Given the description of an element on the screen output the (x, y) to click on. 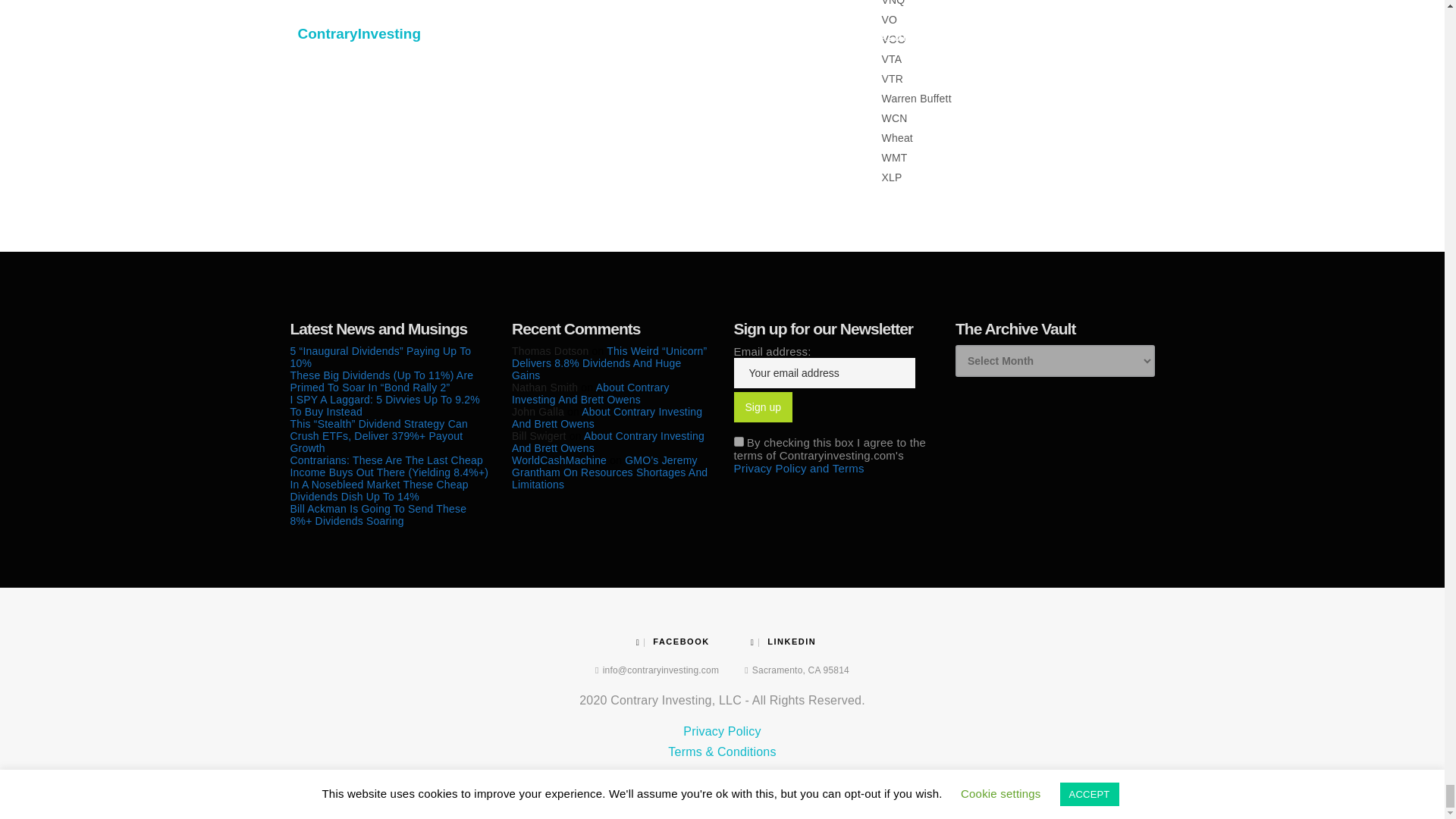
Sign up (762, 407)
1 (738, 441)
